Given the description of an element on the screen output the (x, y) to click on. 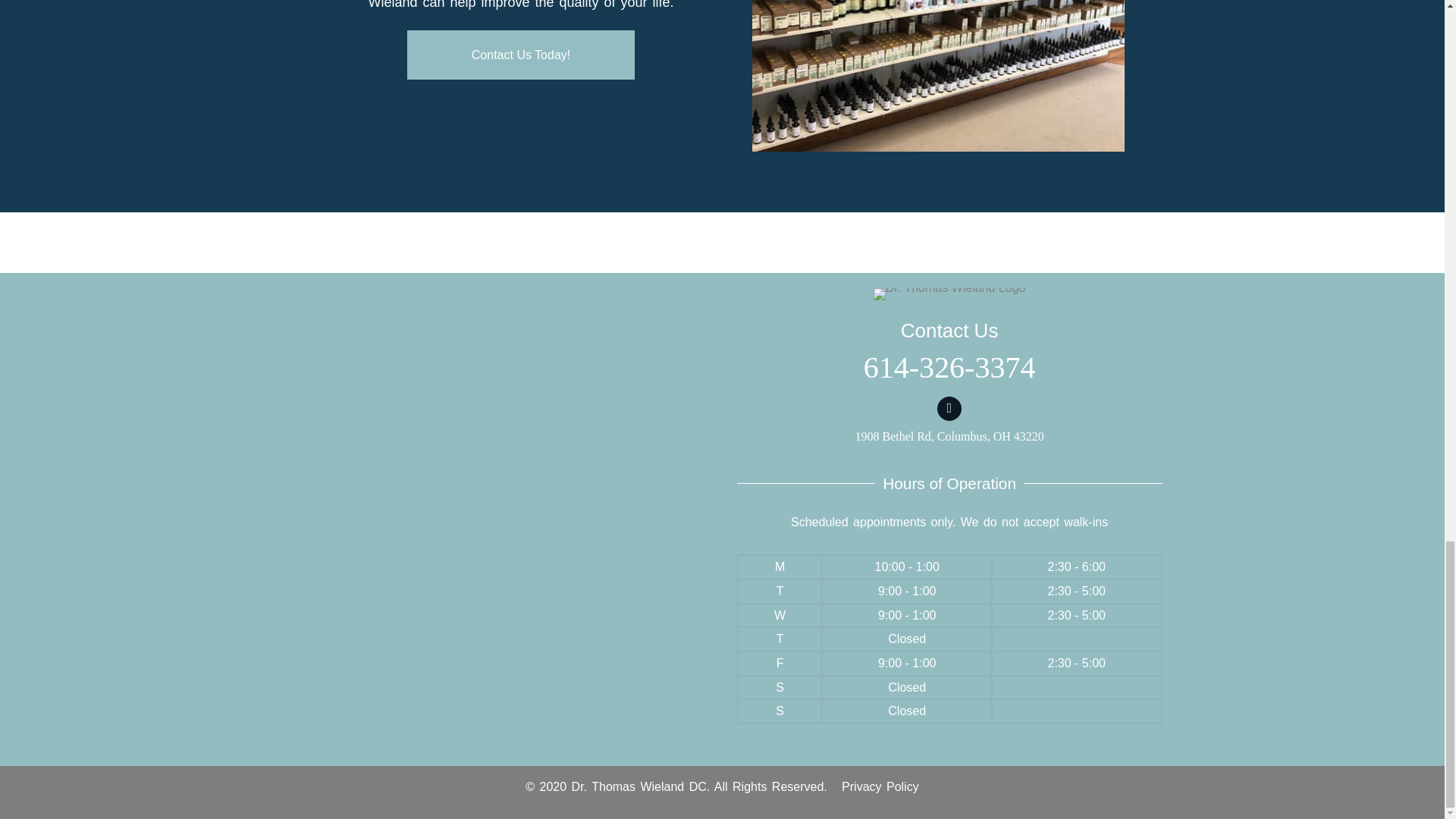
Privacy Policy (879, 786)
Office-Photo-500-2 (938, 75)
Contact Us Today! (520, 54)
Background-logo-2 (949, 294)
